Given the description of an element on the screen output the (x, y) to click on. 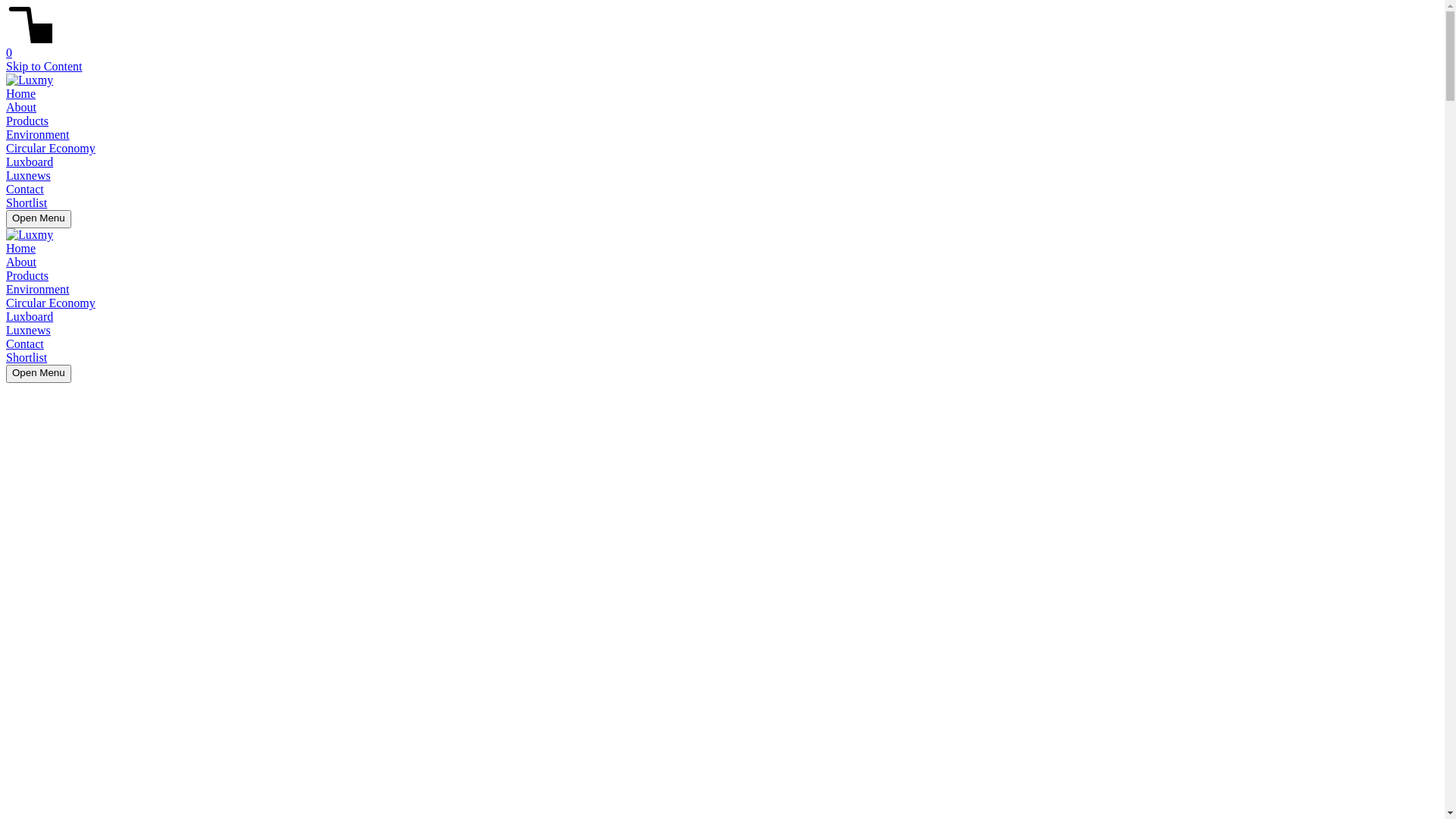
About Element type: text (21, 106)
Products Element type: text (27, 120)
Circular Economy Element type: text (50, 302)
Circular Economy Element type: text (50, 147)
Luxboard Element type: text (29, 316)
Open Menu Element type: text (38, 219)
Home Element type: text (20, 247)
0 Element type: text (722, 45)
Luxnews Element type: text (28, 175)
Luxboard Element type: text (29, 161)
Open Menu Element type: text (38, 373)
About Element type: text (21, 261)
Environment Element type: text (37, 134)
Products Element type: text (27, 275)
Home Element type: text (20, 93)
Shortlist Element type: text (26, 357)
Environment Element type: text (37, 288)
Contact Element type: text (24, 188)
Contact Element type: text (24, 343)
Luxnews Element type: text (28, 329)
Shortlist Element type: text (26, 202)
Skip to Content Element type: text (43, 65)
